Given the description of an element on the screen output the (x, y) to click on. 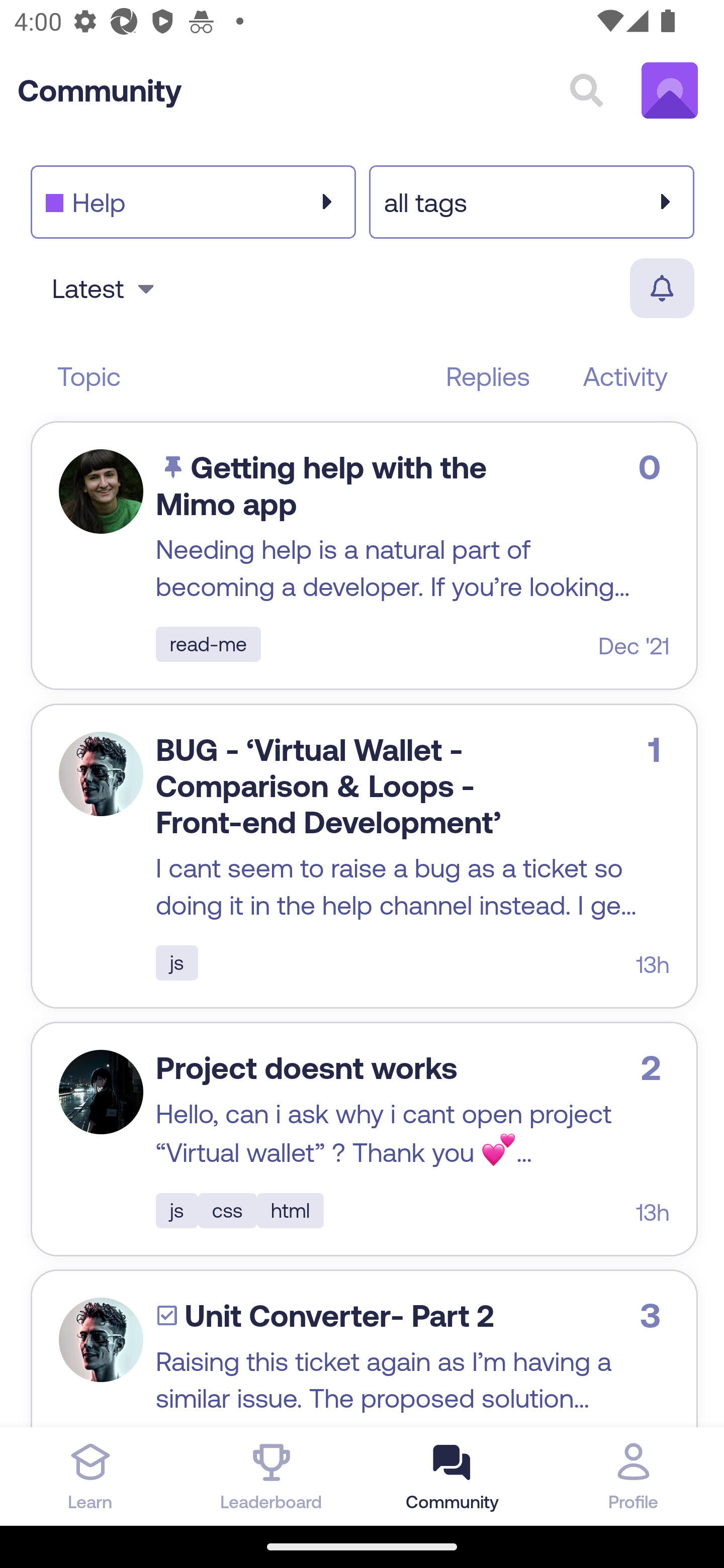
Search (586, 90)
Test Appium's account (669, 90)
Community (100, 90)
Filter by: Help (192, 201)
Filter by: all tags (531, 201)
Latest (105, 288)
change notification level for this category (661, 288)
Sort by replies (487, 375)
Sort by activity (625, 375)
1 (100, 491)
This topic has 0 replies (653, 467)
Getting help with the Mimo app (320, 486)
read-me (208, 644)
Dec '21 (633, 645)
1 (100, 772)
This topic has 1 reply (658, 747)
js (176, 962)
13h (652, 964)
1 (100, 1092)
This topic has 2 replies (655, 1066)
Project doesnt works (305, 1068)
js (176, 1211)
css (226, 1211)
html (289, 1211)
13h (652, 1211)
1 (100, 1340)
This topic has 3 replies (654, 1314)
Unit Converter- Part 2 (338, 1316)
Learn (90, 1475)
Leaderboard (271, 1475)
Profile (633, 1475)
